Given the description of an element on the screen output the (x, y) to click on. 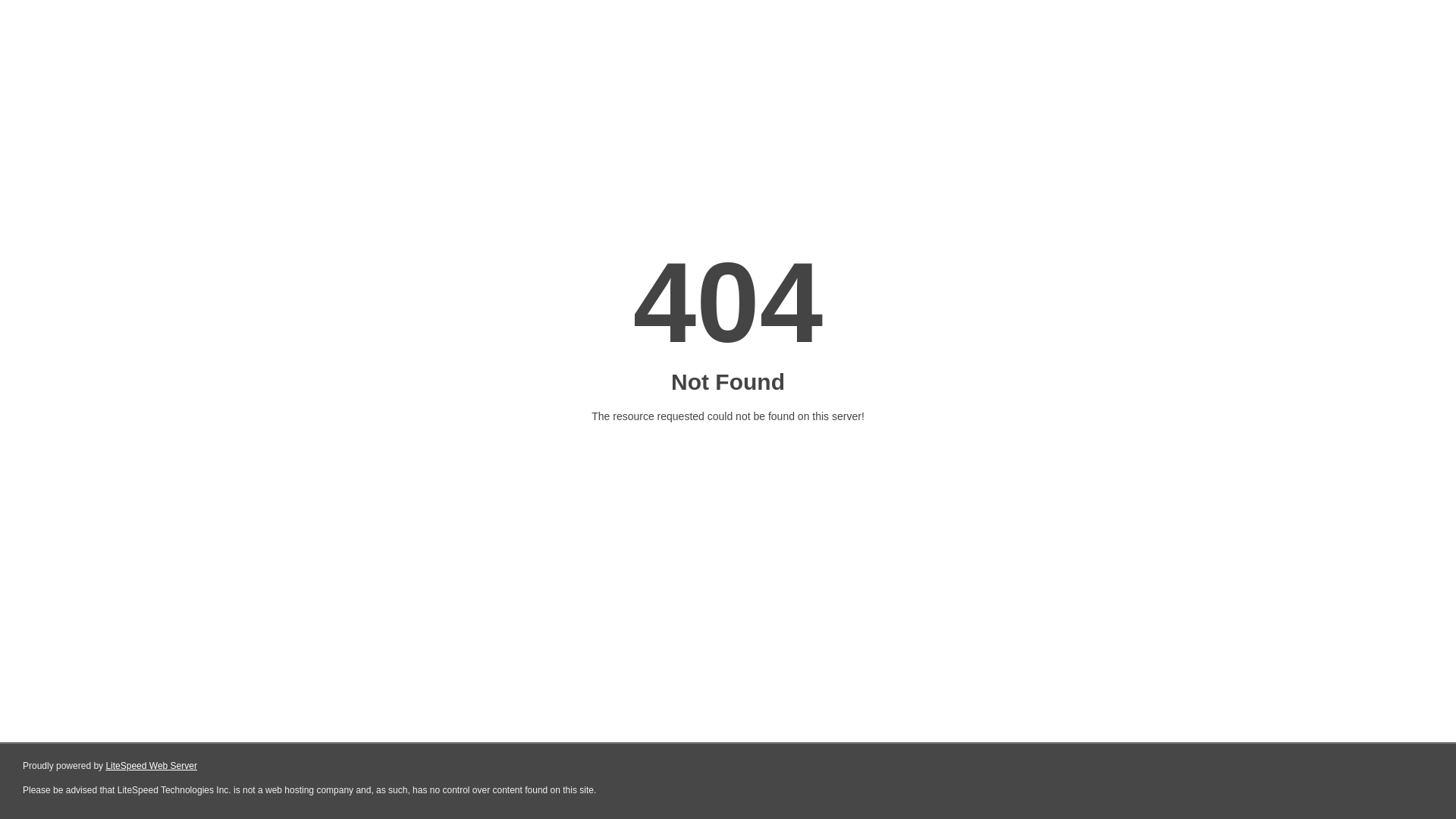
LiteSpeed Web Server Element type: text (151, 765)
